Given the description of an element on the screen output the (x, y) to click on. 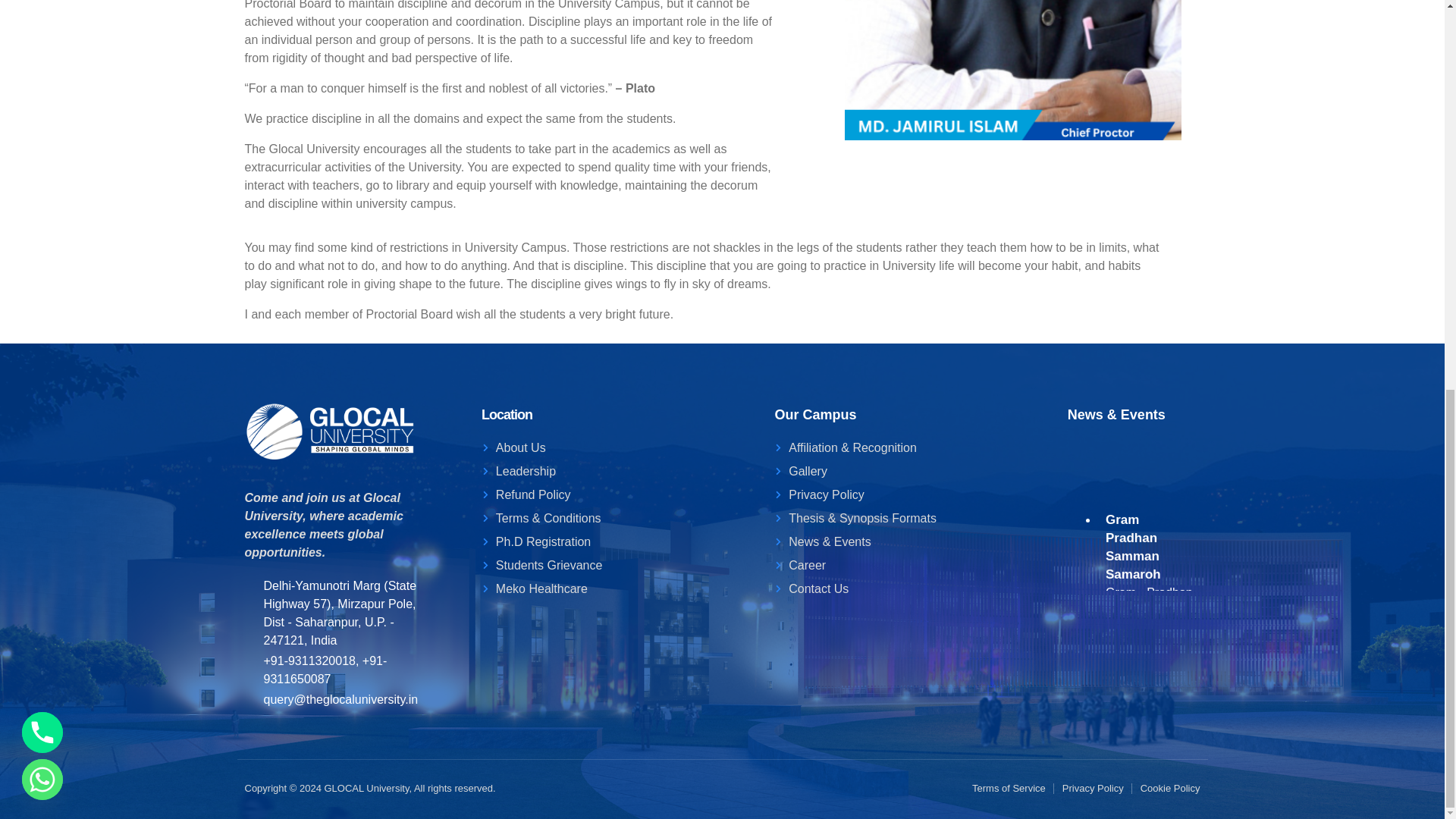
Gram Pradhan Samman Samaroh (1148, 680)
01 July 2024 (1148, 731)
Glocal Drishti Research Journal. (1148, 768)
Gram Pradhan Samman Samaroh (1148, 616)
